Given the description of an element on the screen output the (x, y) to click on. 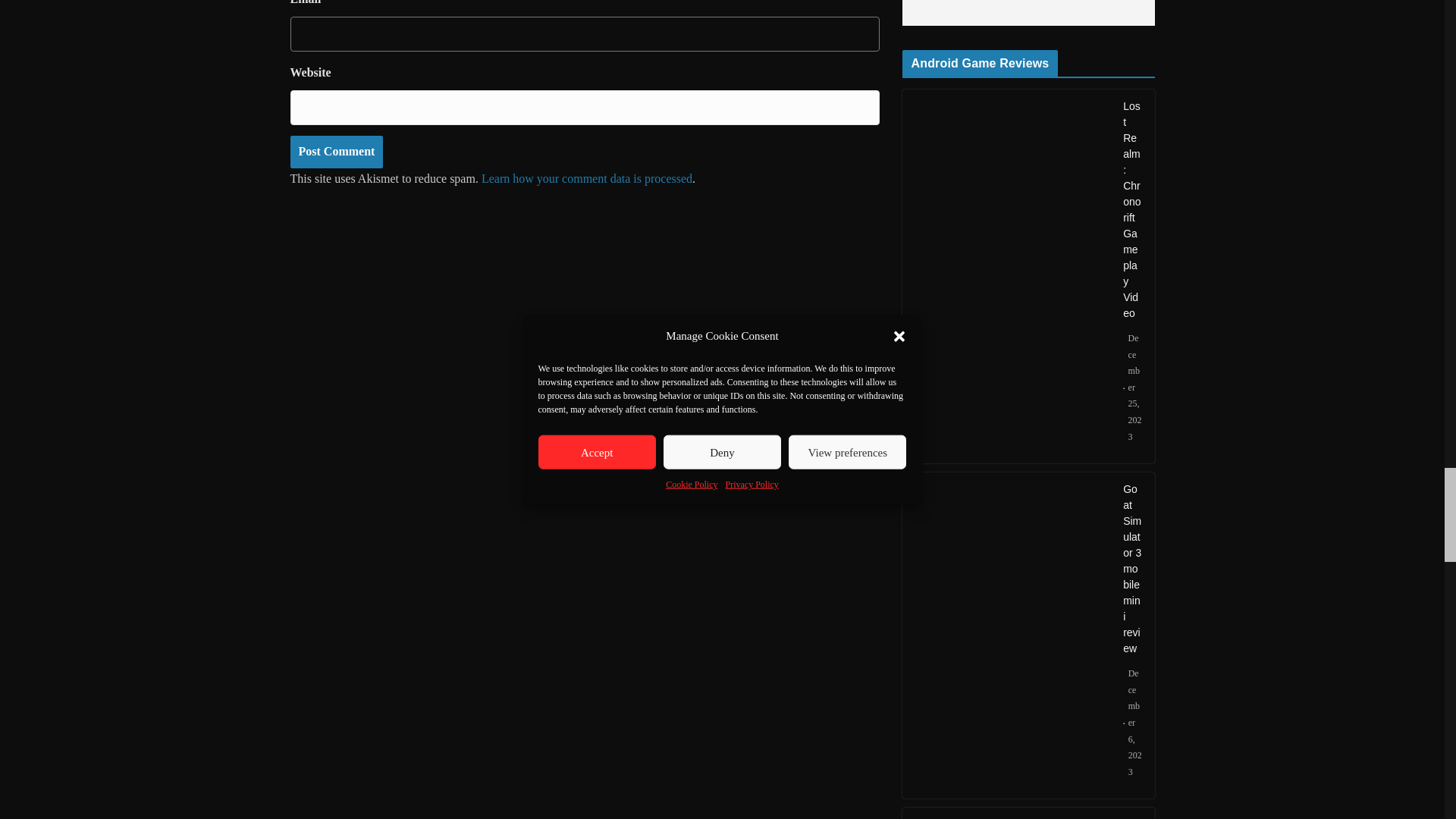
Post Comment (335, 151)
